Given the description of an element on the screen output the (x, y) to click on. 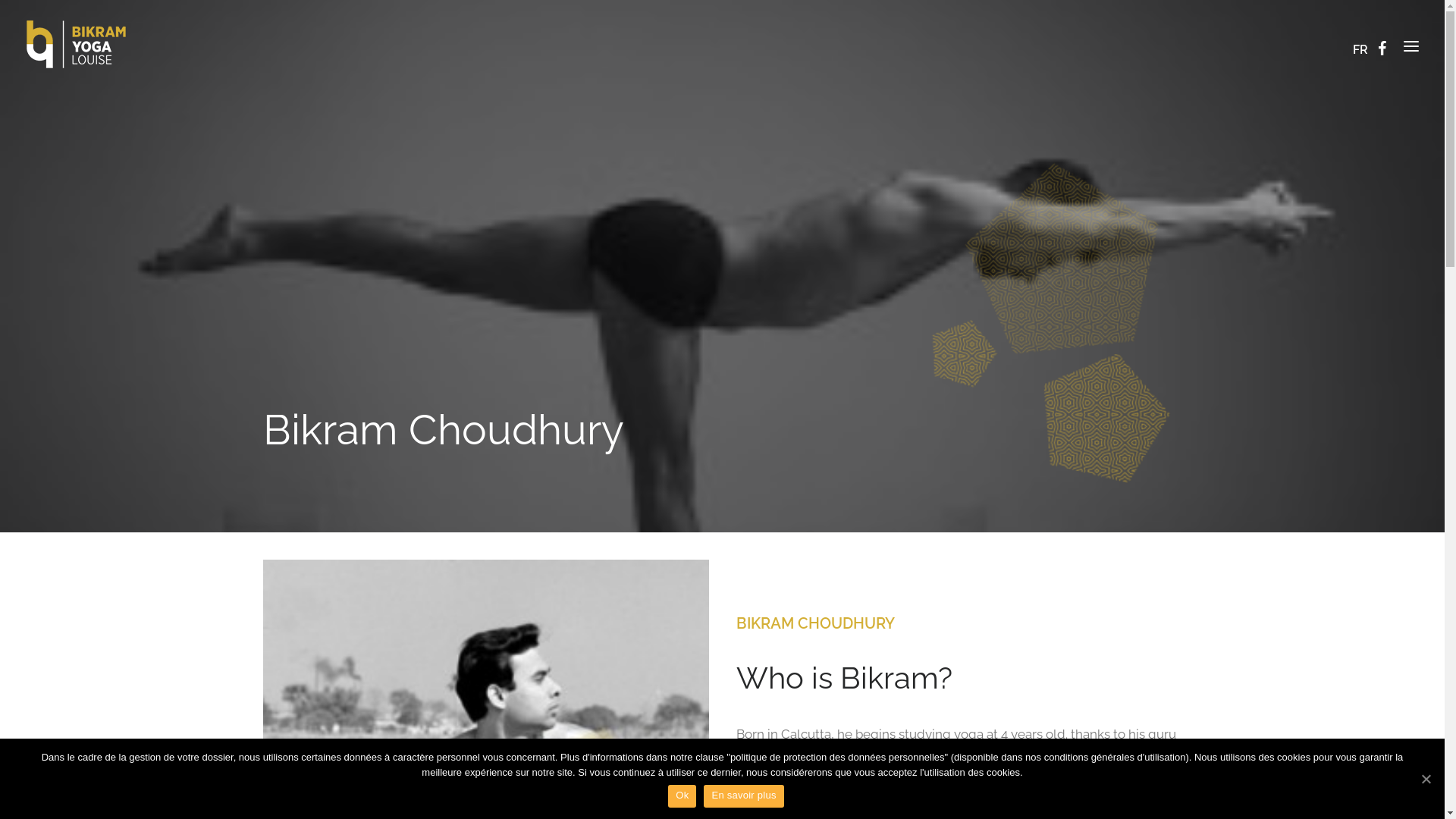
FR Element type: text (1360, 48)
En savoir plus Element type: text (743, 795)
Ok Element type: text (682, 795)
<strong>fb</strong> Element type: hover (1385, 43)
